Given the description of an element on the screen output the (x, y) to click on. 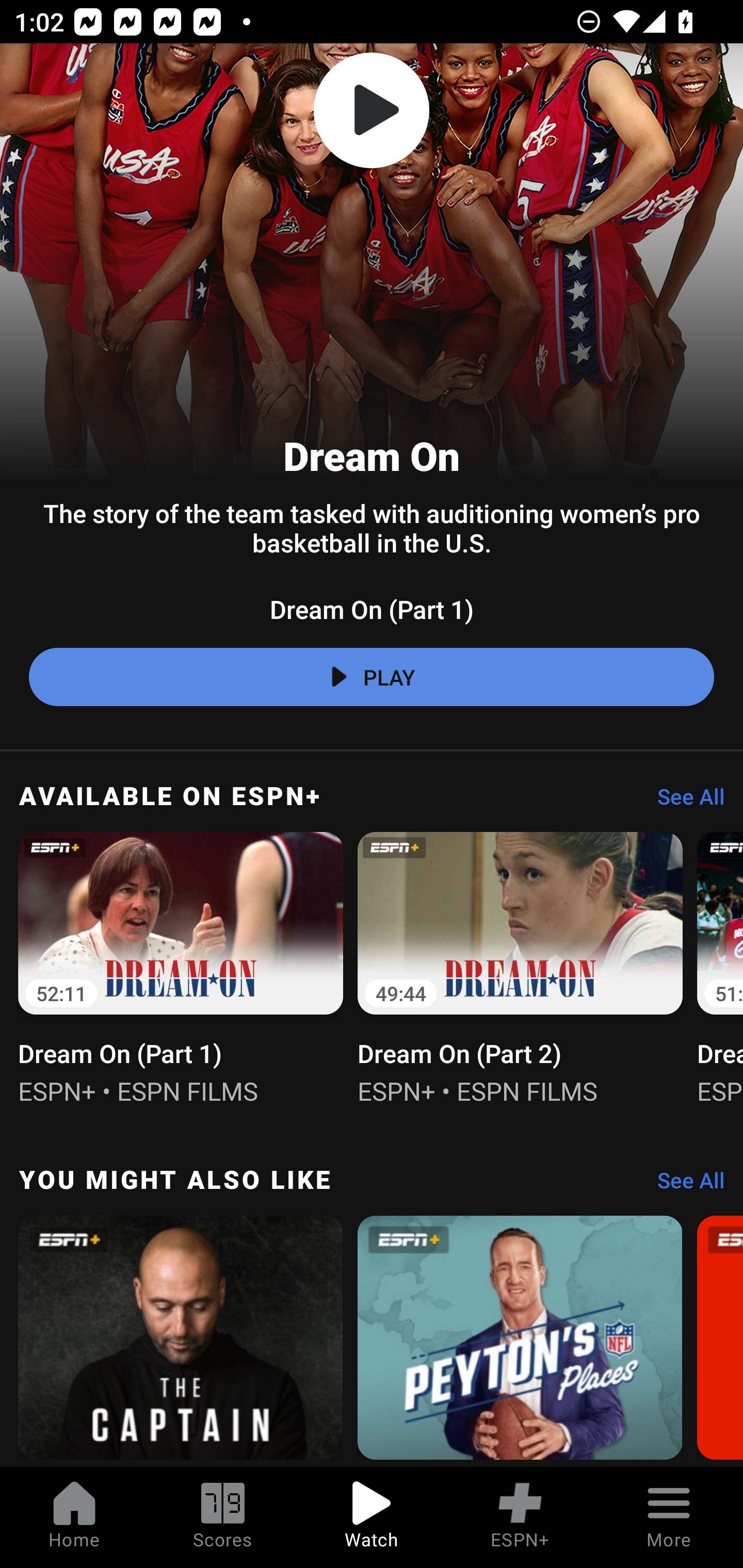
 (371, 110)
PLAY (371, 676)
See All (683, 800)
52:11 Dream On (Part 1) ESPN+ • ESPN FILMS (180, 966)
49:44 Dream On (Part 2) ESPN+ • ESPN FILMS (519, 966)
See All (683, 1184)
Home (74, 1517)
Scores (222, 1517)
ESPN+ (519, 1517)
More (668, 1517)
